Given the description of an element on the screen output the (x, y) to click on. 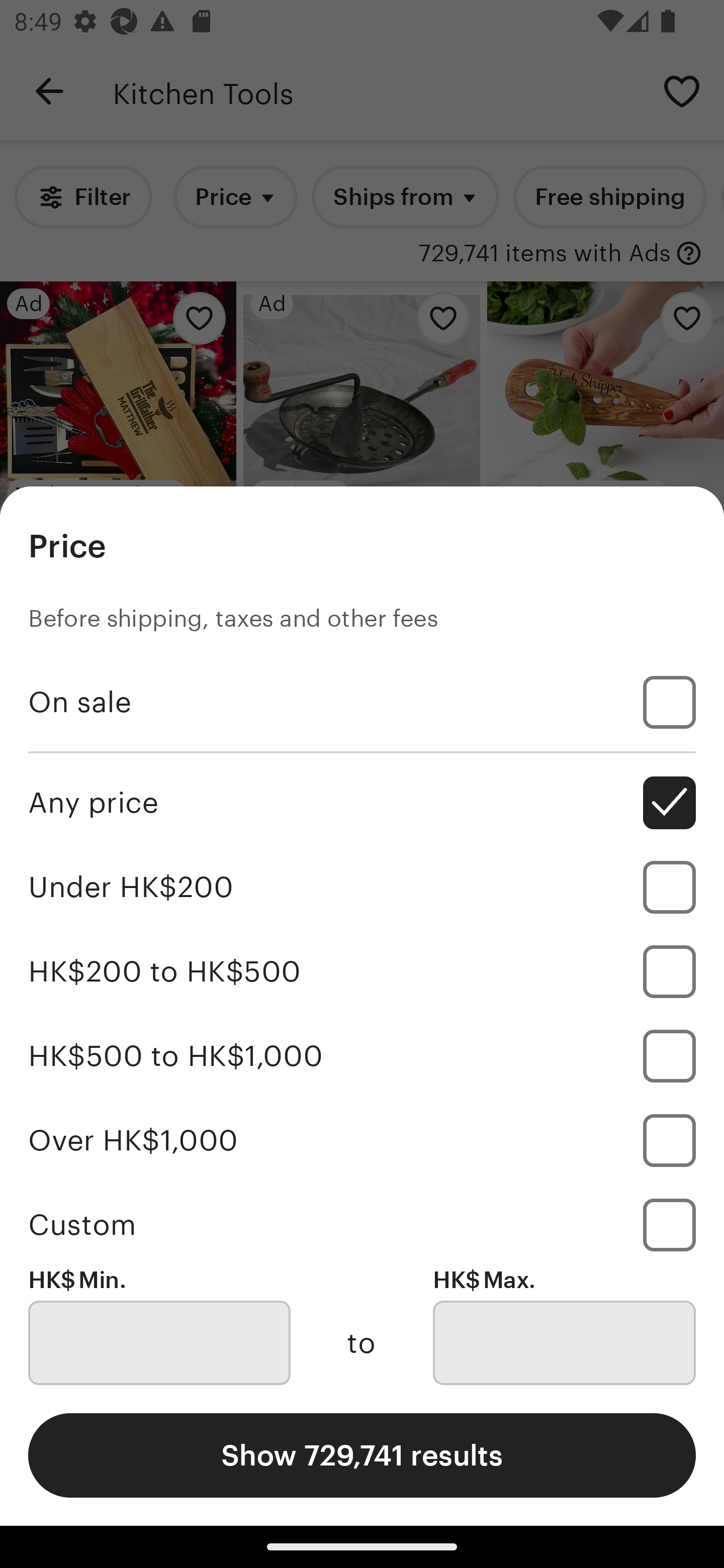
On sale (362, 702)
Any price (362, 802)
Under HK$200 (362, 887)
HK$200 to HK$500 (362, 970)
HK$500 to HK$1,000 (362, 1054)
Over HK$1,000 (362, 1139)
Custom (362, 1224)
Show 729,741 results (361, 1454)
